Given the description of an element on the screen output the (x, y) to click on. 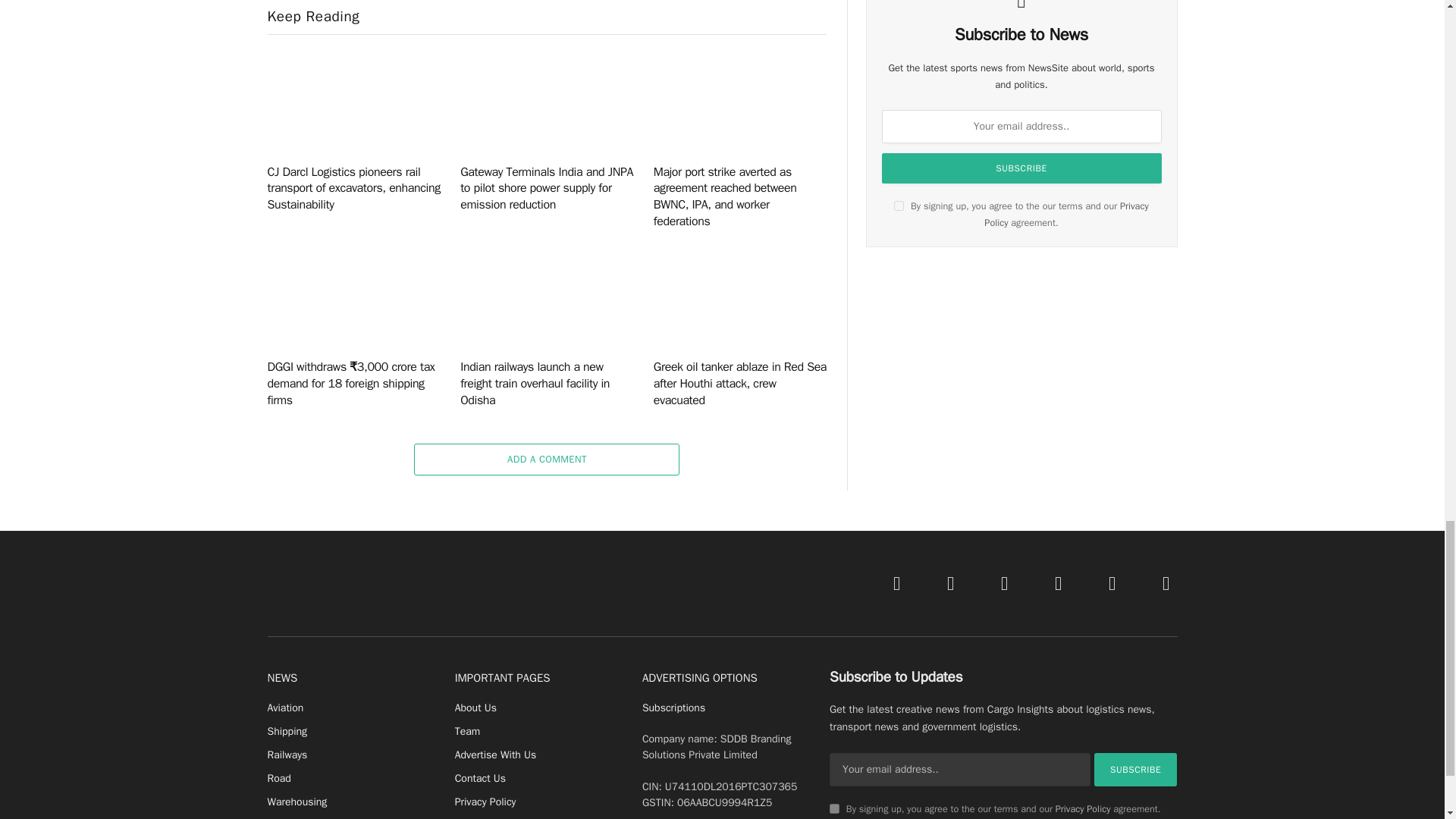
on (898, 205)
on (834, 808)
Subscribe (1135, 769)
Subscribe (1021, 168)
